Given the description of an element on the screen output the (x, y) to click on. 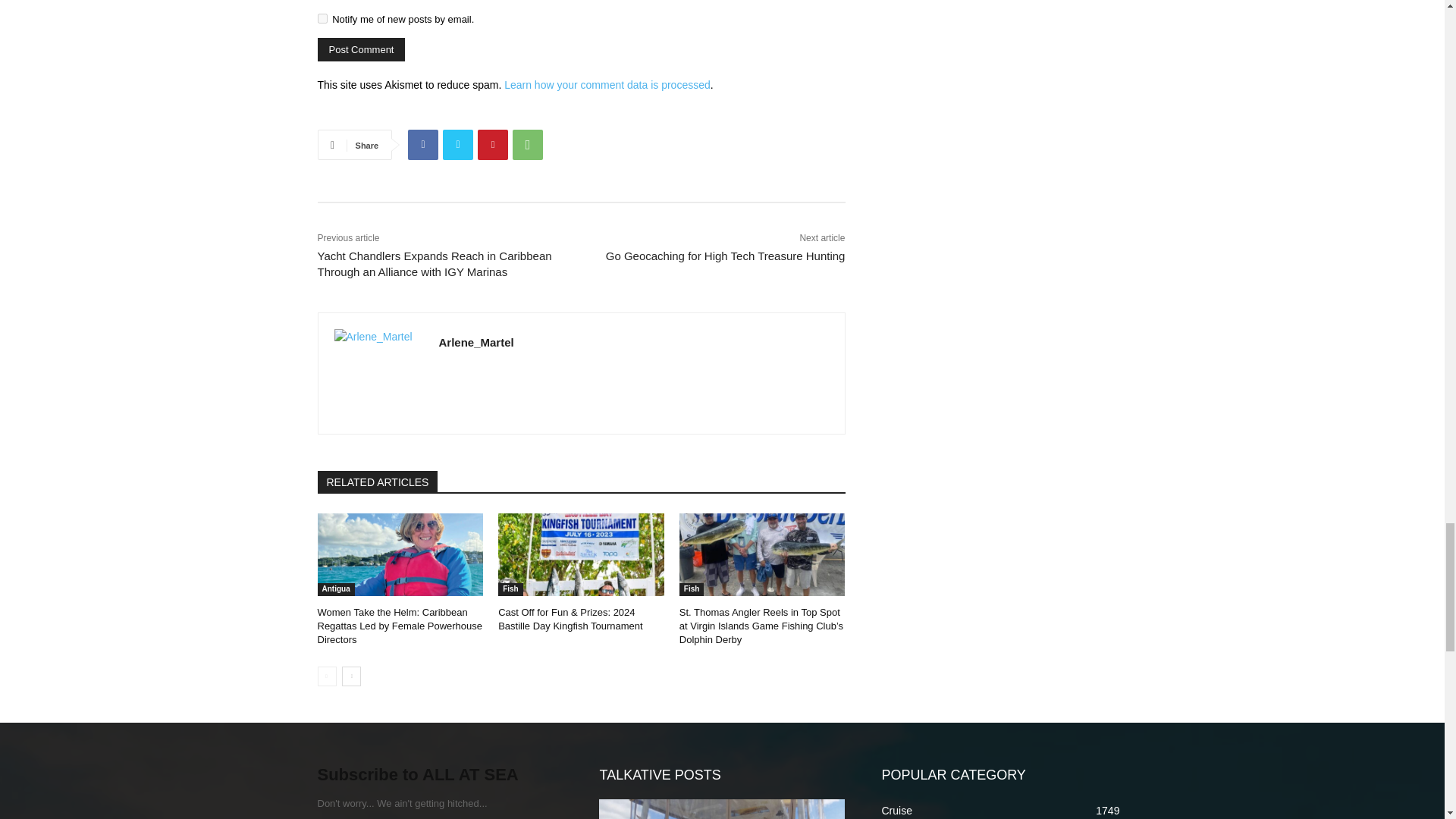
Post Comment (360, 49)
subscribe (321, 18)
